Given the description of an element on the screen output the (x, y) to click on. 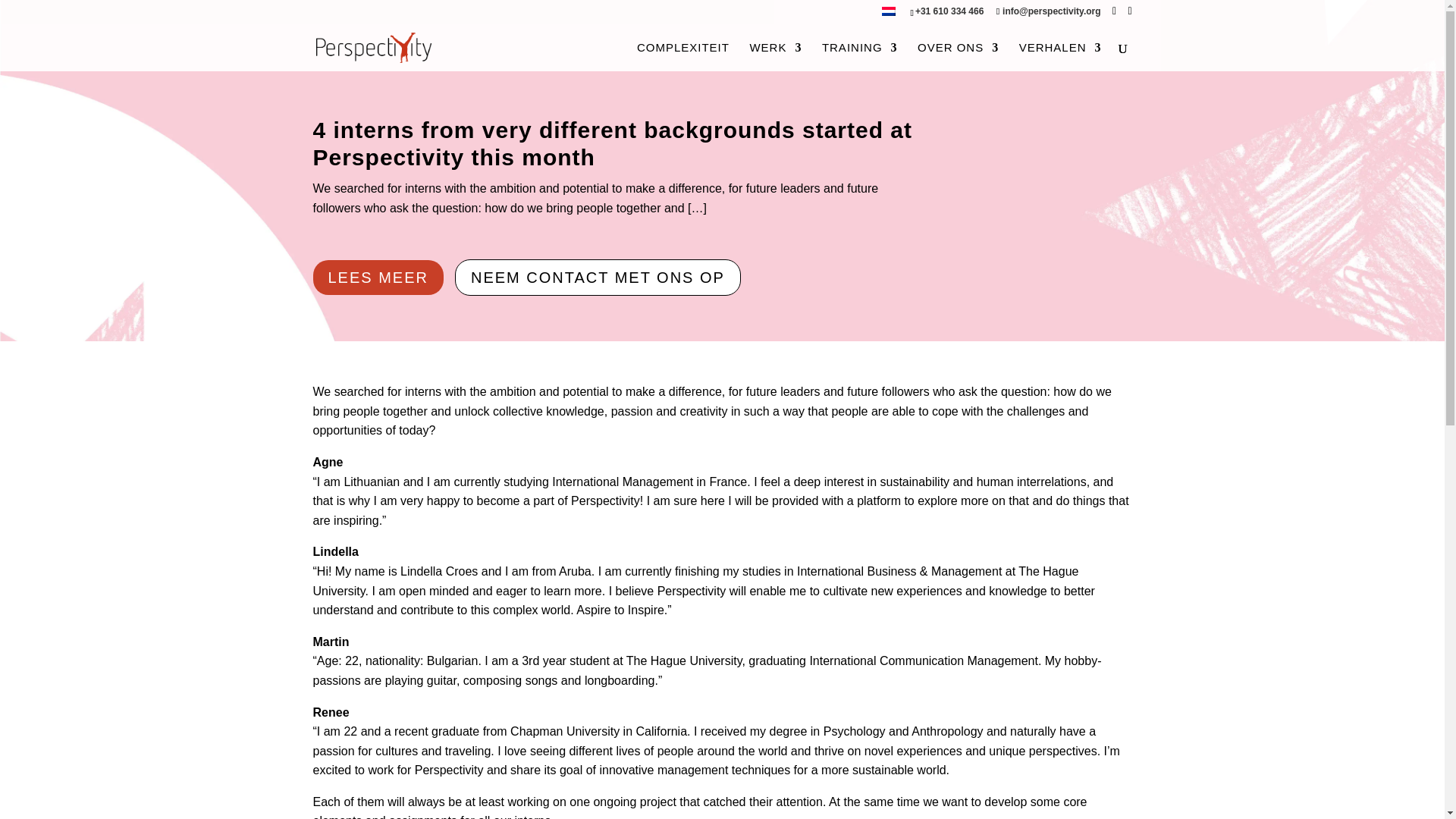
OVER ONS (957, 56)
LEES MEER (377, 277)
COMPLEXITEIT (683, 56)
WERK (775, 56)
TRAINING (860, 56)
NEEM CONTACT MET ONS OP (597, 277)
VERHALEN (1060, 56)
